Given the description of an element on the screen output the (x, y) to click on. 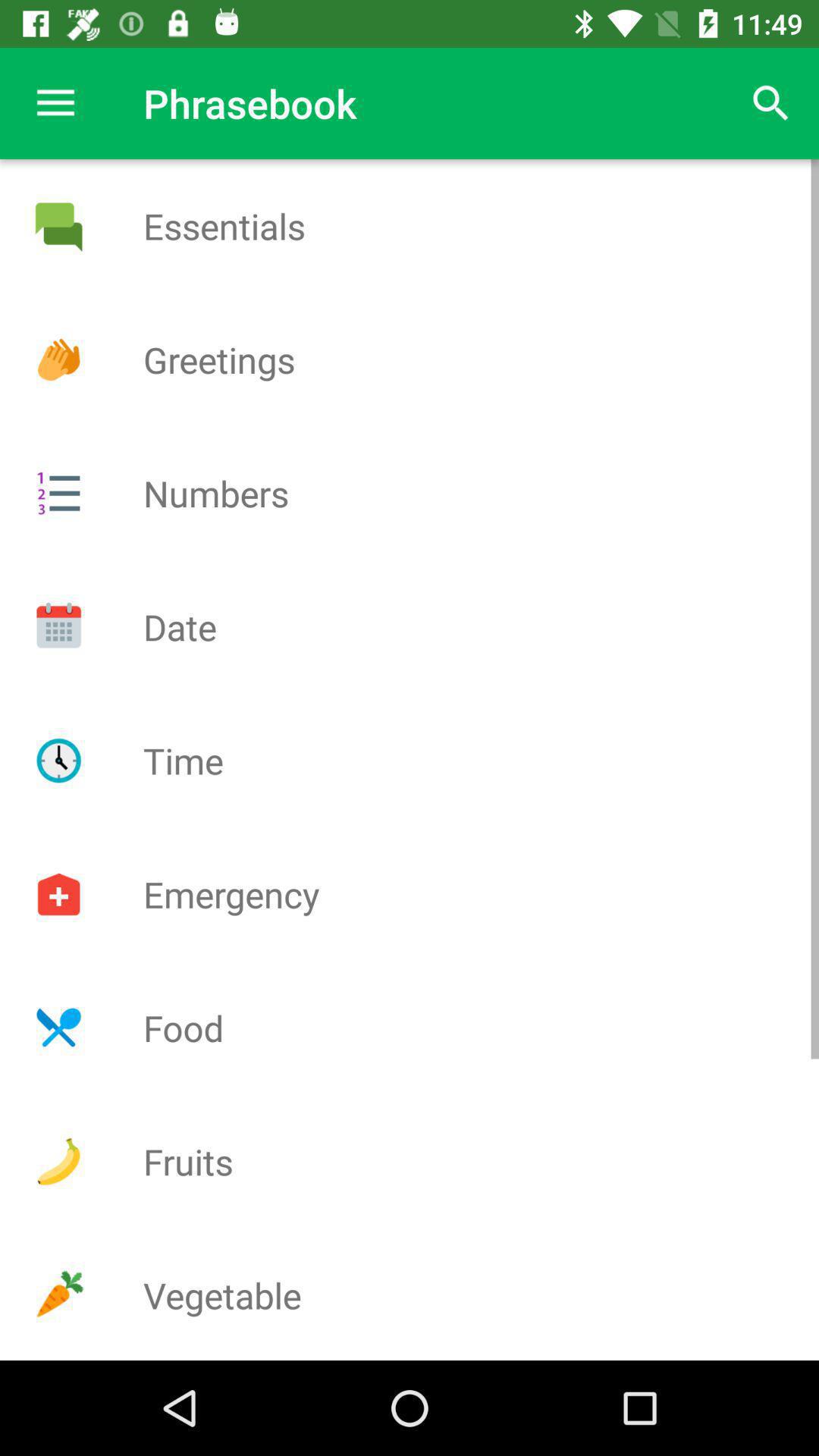
date translation (58, 627)
